Given the description of an element on the screen output the (x, y) to click on. 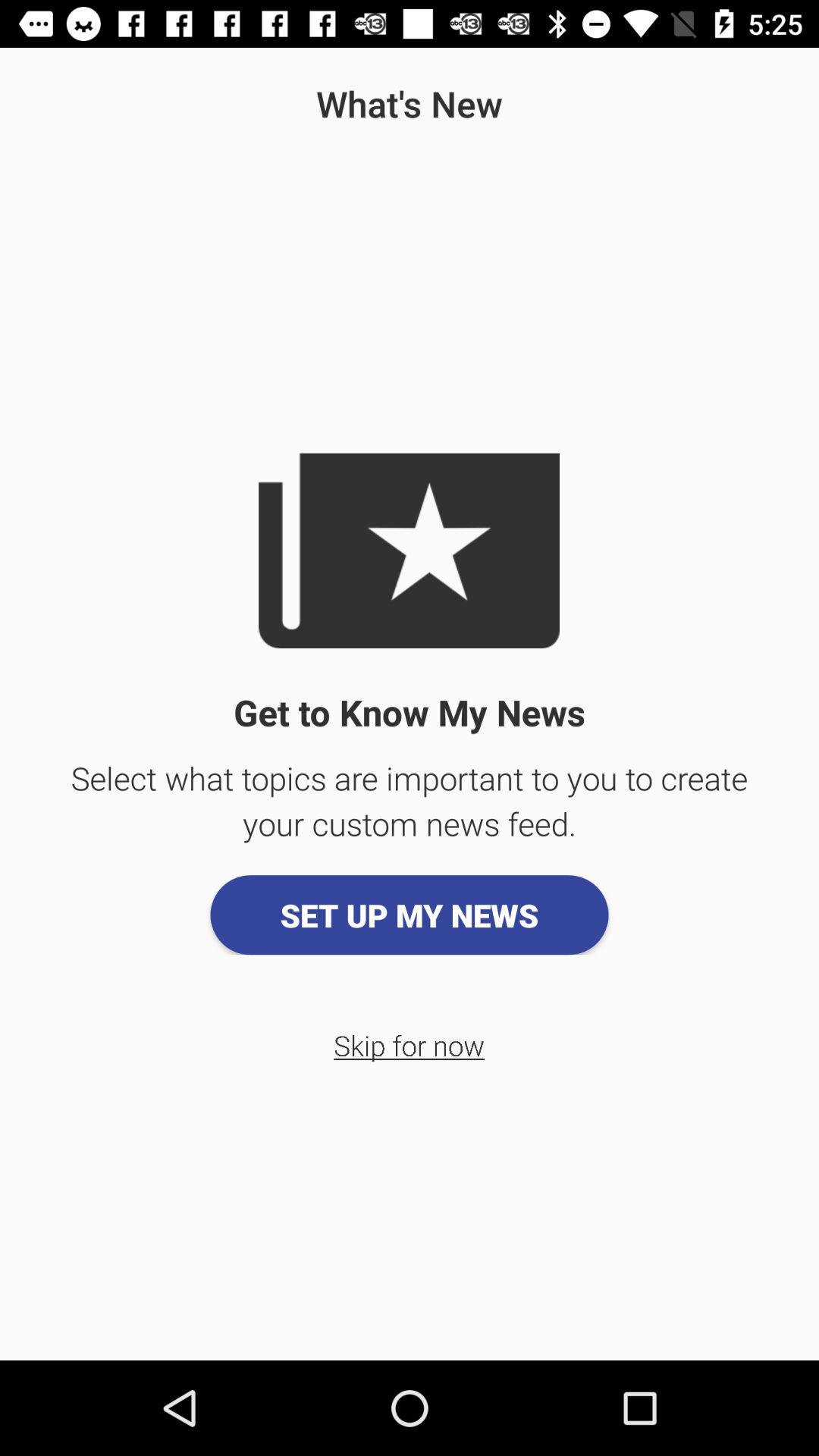
select the set up my icon (409, 914)
